Given the description of an element on the screen output the (x, y) to click on. 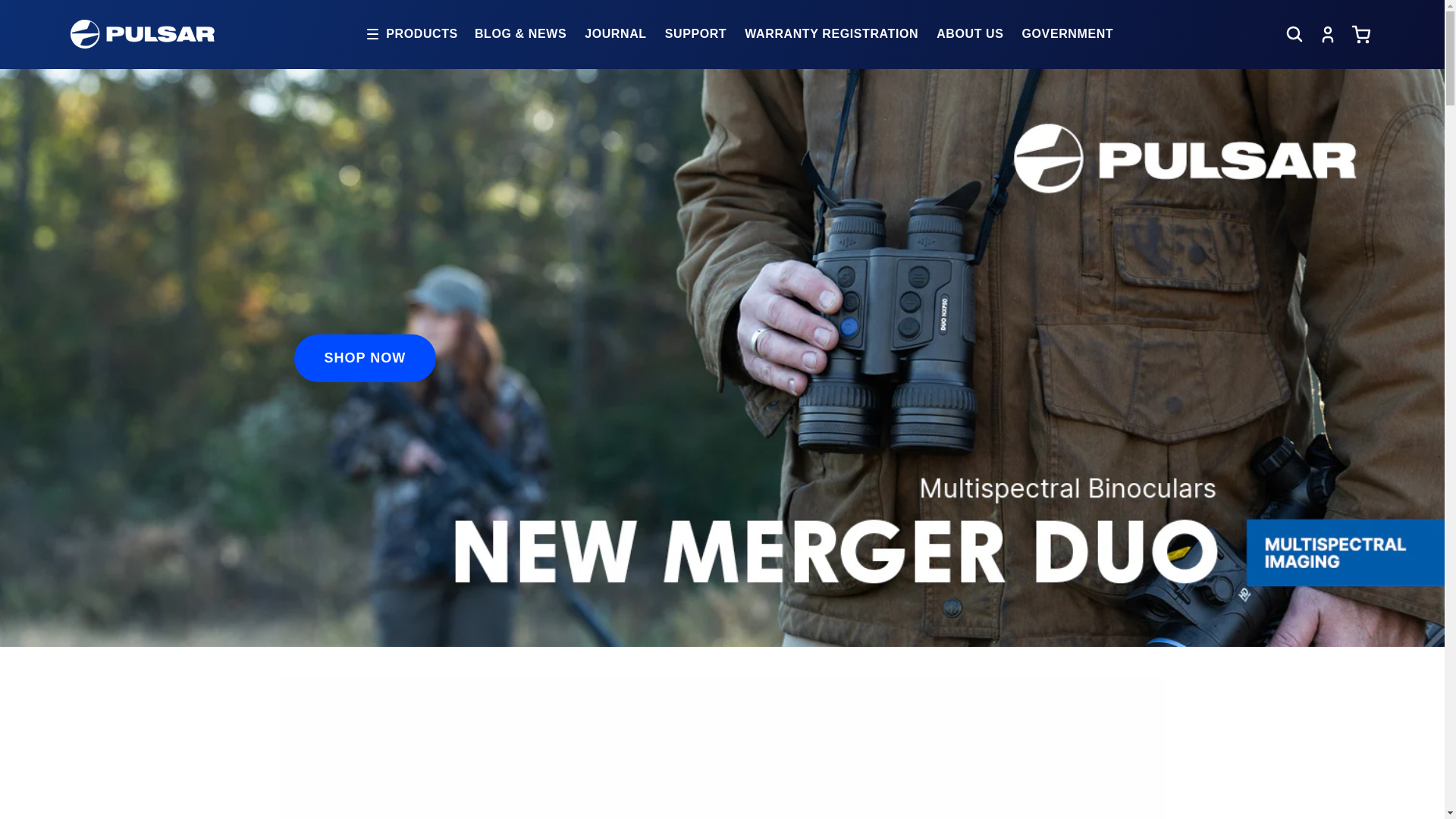
Skip to content (45, 17)
PRODUCTS (412, 33)
